Given the description of an element on the screen output the (x, y) to click on. 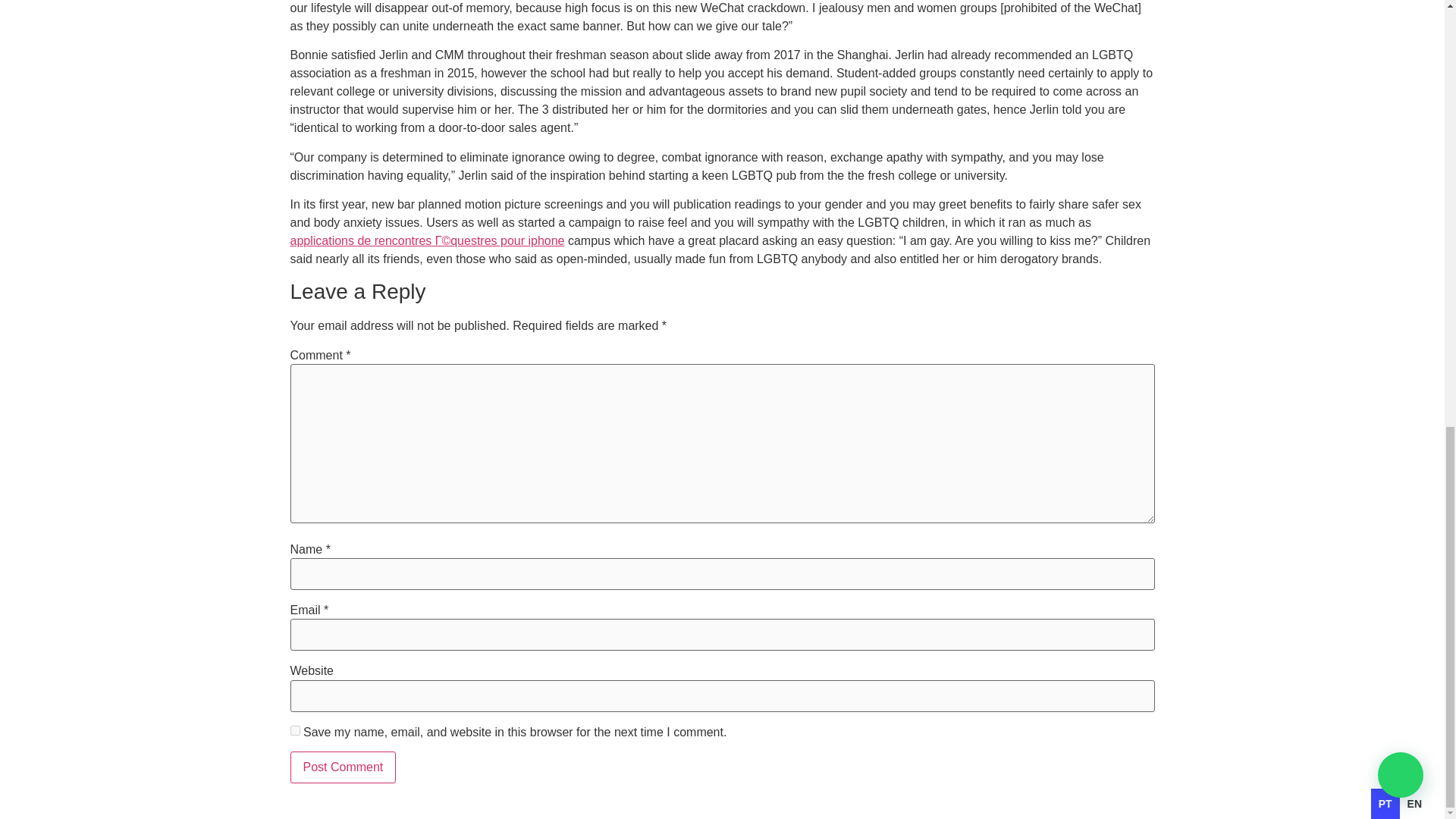
Post Comment (342, 766)
Post Comment (342, 766)
yes (294, 730)
